Given the description of an element on the screen output the (x, y) to click on. 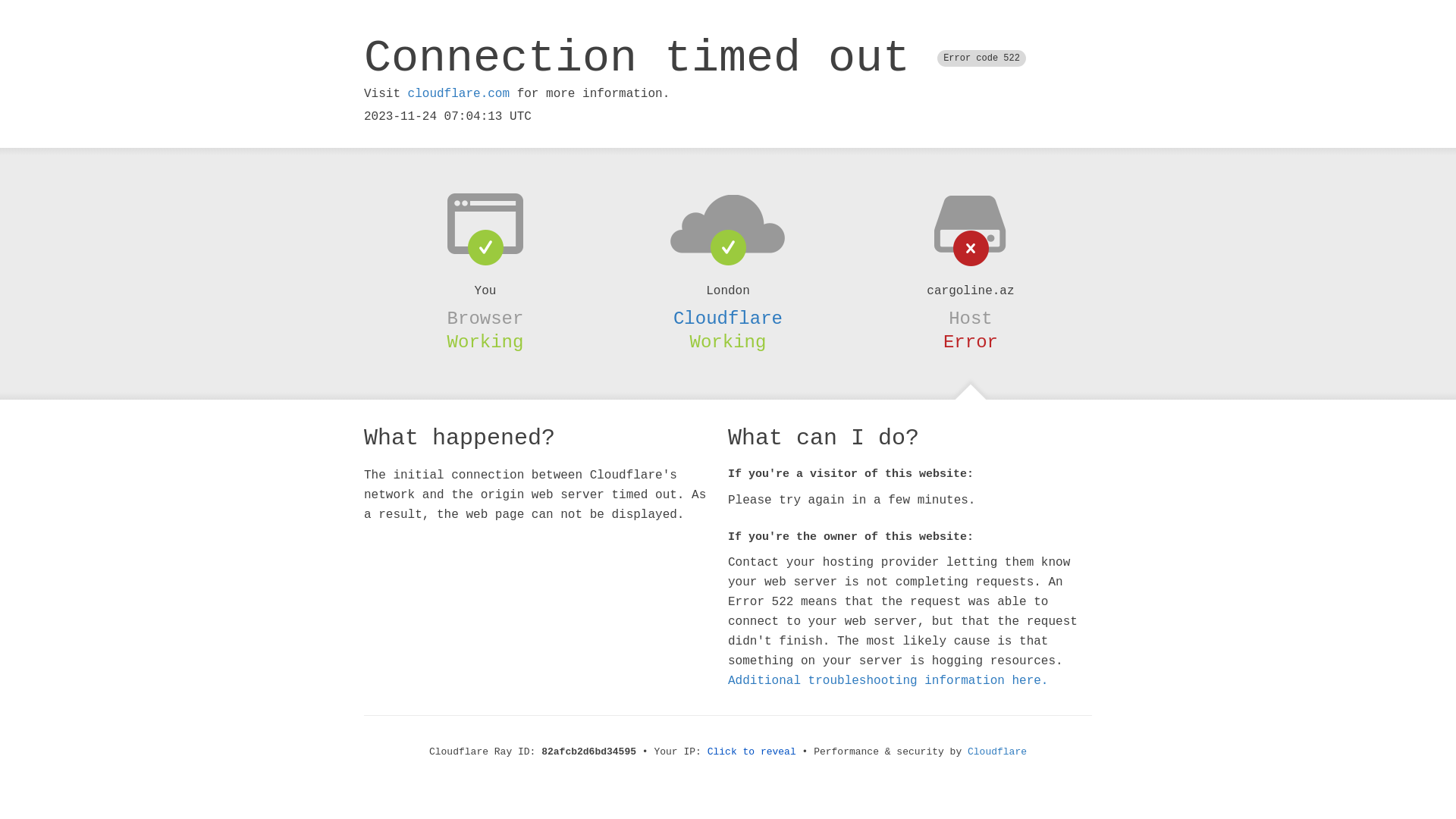
Cloudflare Element type: text (996, 751)
Additional troubleshooting information here. Element type: text (888, 680)
Cloudflare Element type: text (727, 318)
Click to reveal Element type: text (751, 751)
cloudflare.com Element type: text (458, 93)
